Given the description of an element on the screen output the (x, y) to click on. 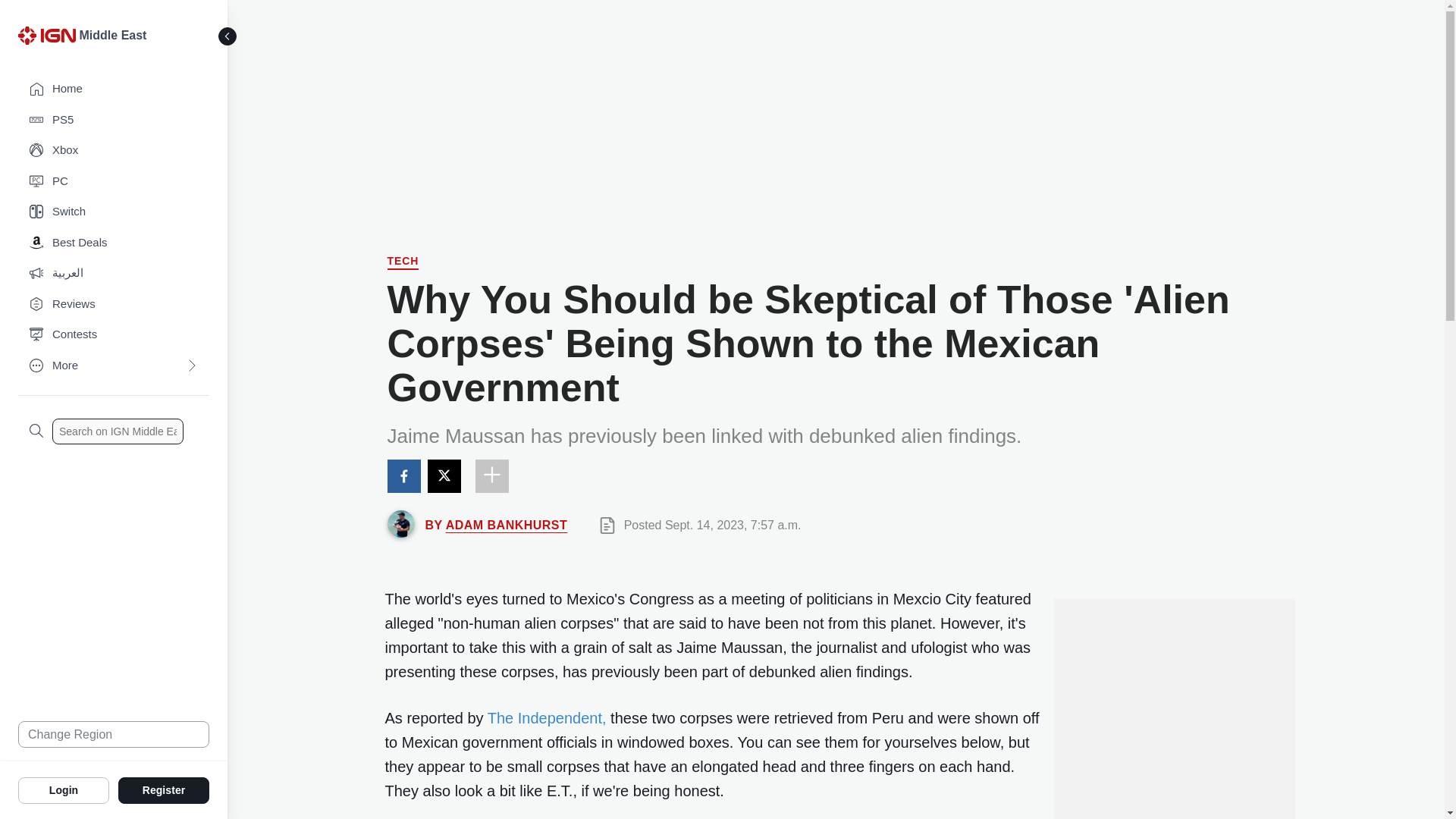
TECH (403, 262)
More (113, 365)
ADAM BANKHURST (506, 524)
Switch (113, 211)
Register (163, 789)
Contests (113, 334)
Tech (403, 262)
Reviews (113, 304)
Login (63, 789)
PS5 (113, 119)
PC (113, 181)
Xbox (113, 150)
Toggle Sidebar (226, 36)
Home (113, 89)
IGN Logo (46, 34)
